Given the description of an element on the screen output the (x, y) to click on. 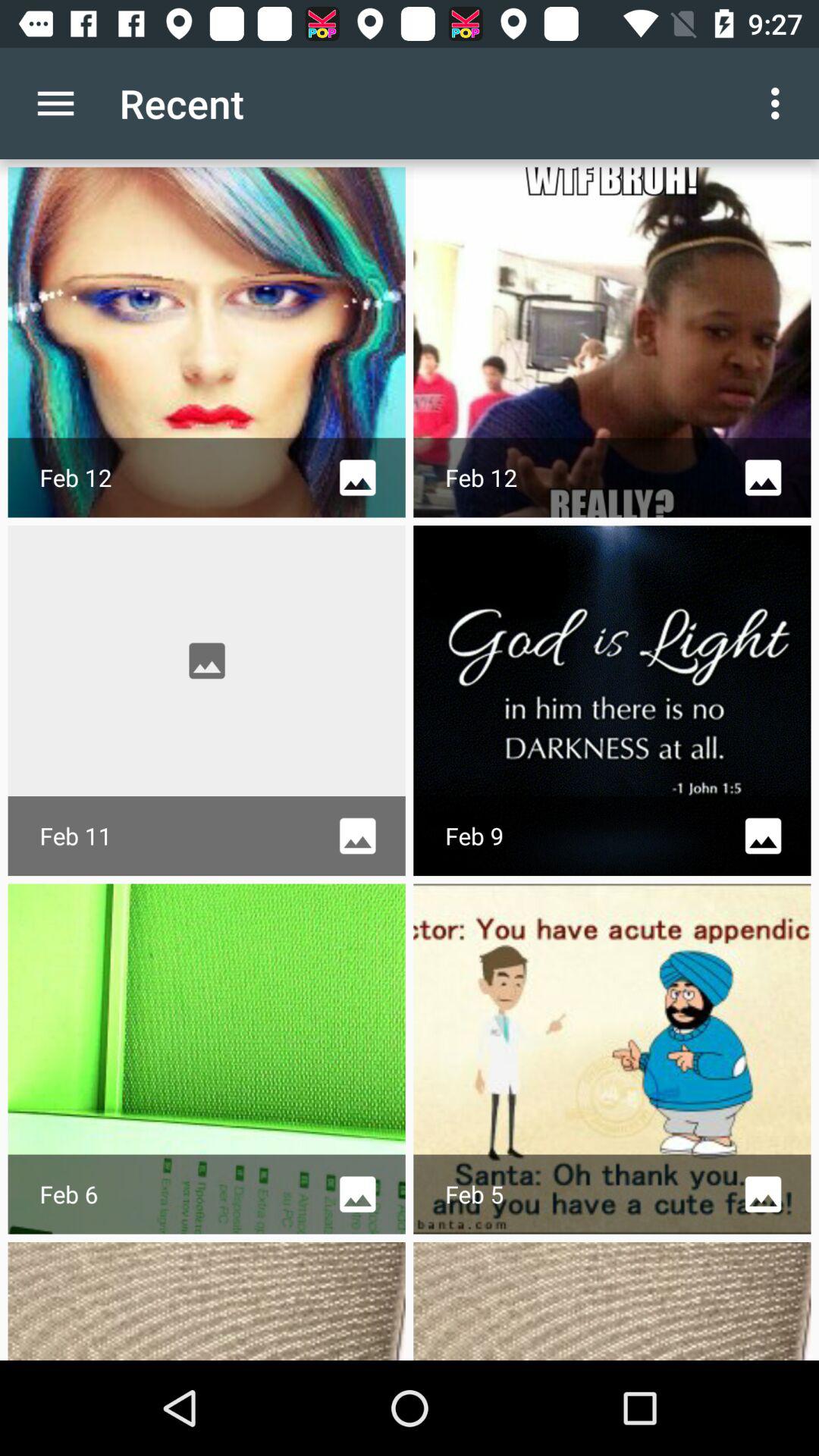
click the item to the left of the recent icon (55, 103)
